Given the description of an element on the screen output the (x, y) to click on. 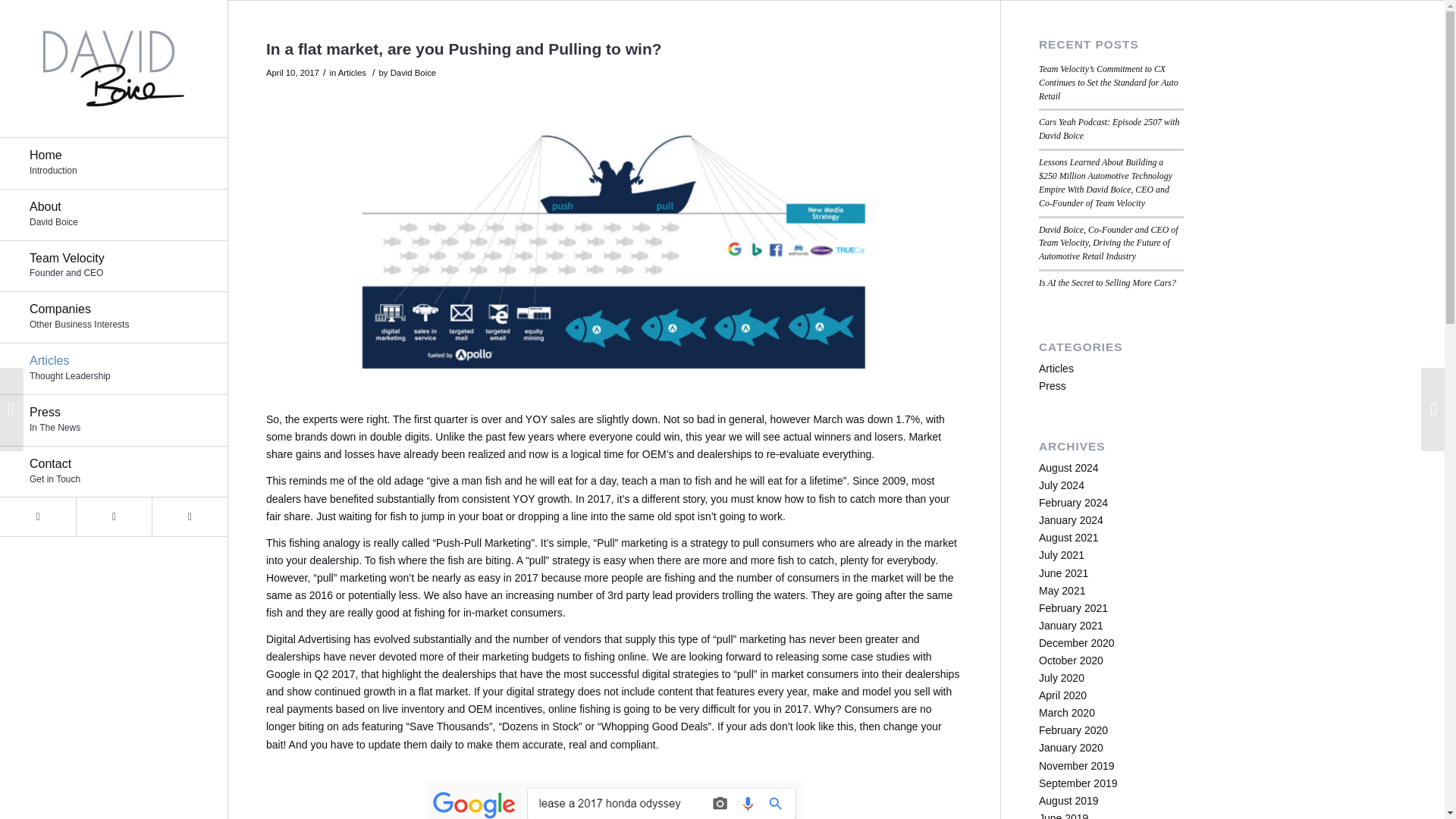
Posts by David Boice (412, 71)
July 2021 (113, 214)
July 2020 (1061, 554)
Facebook (113, 266)
Press (113, 317)
